Given the description of an element on the screen output the (x, y) to click on. 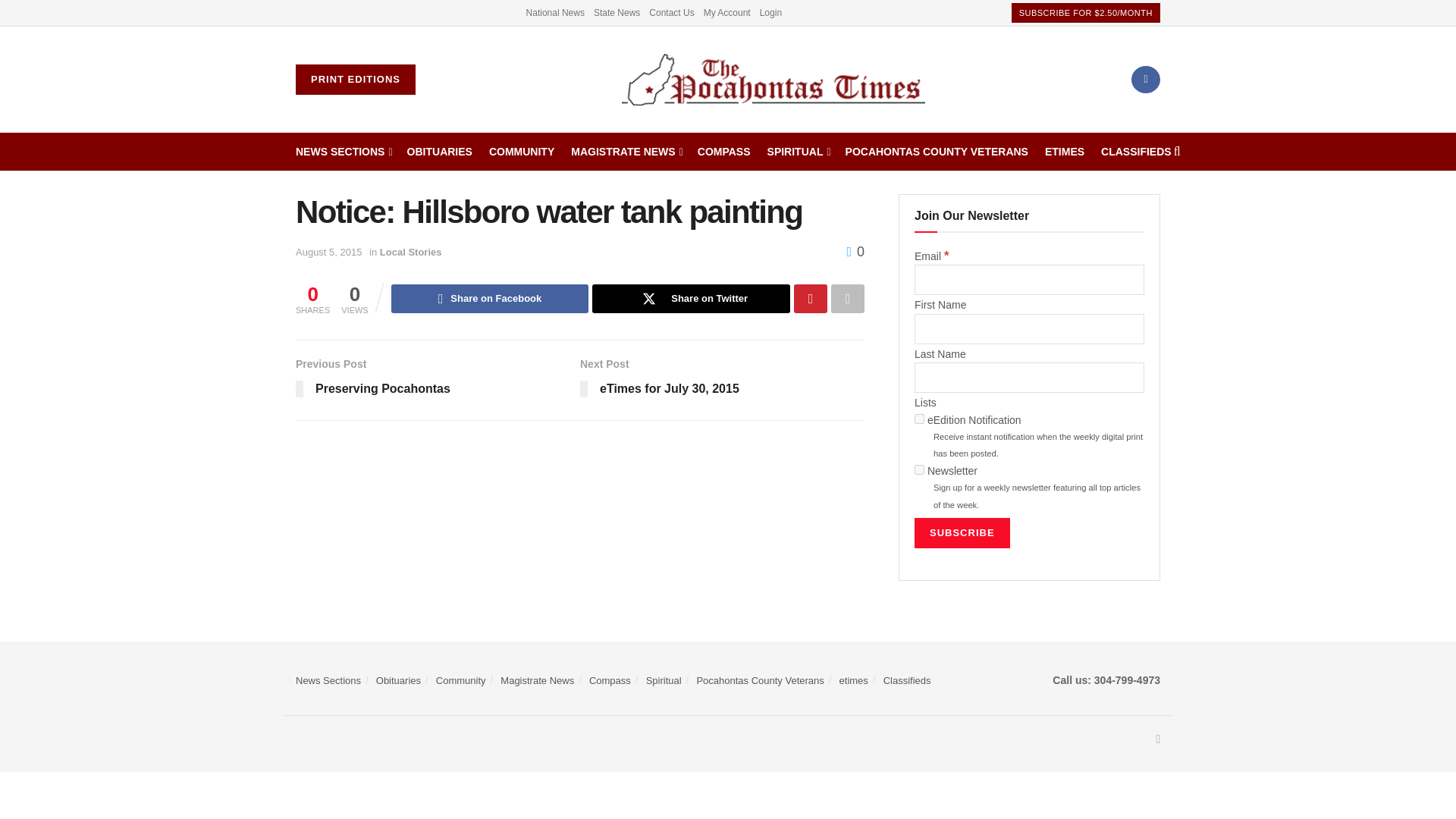
COMMUNITY (521, 151)
SPIRITUAL (797, 151)
Subscribe (962, 532)
PRINT EDITIONS (354, 79)
State News (617, 12)
COMPASS (724, 151)
NEWS SECTIONS (342, 151)
My Account (727, 12)
August 5, 2015 (328, 251)
